Given the description of an element on the screen output the (x, y) to click on. 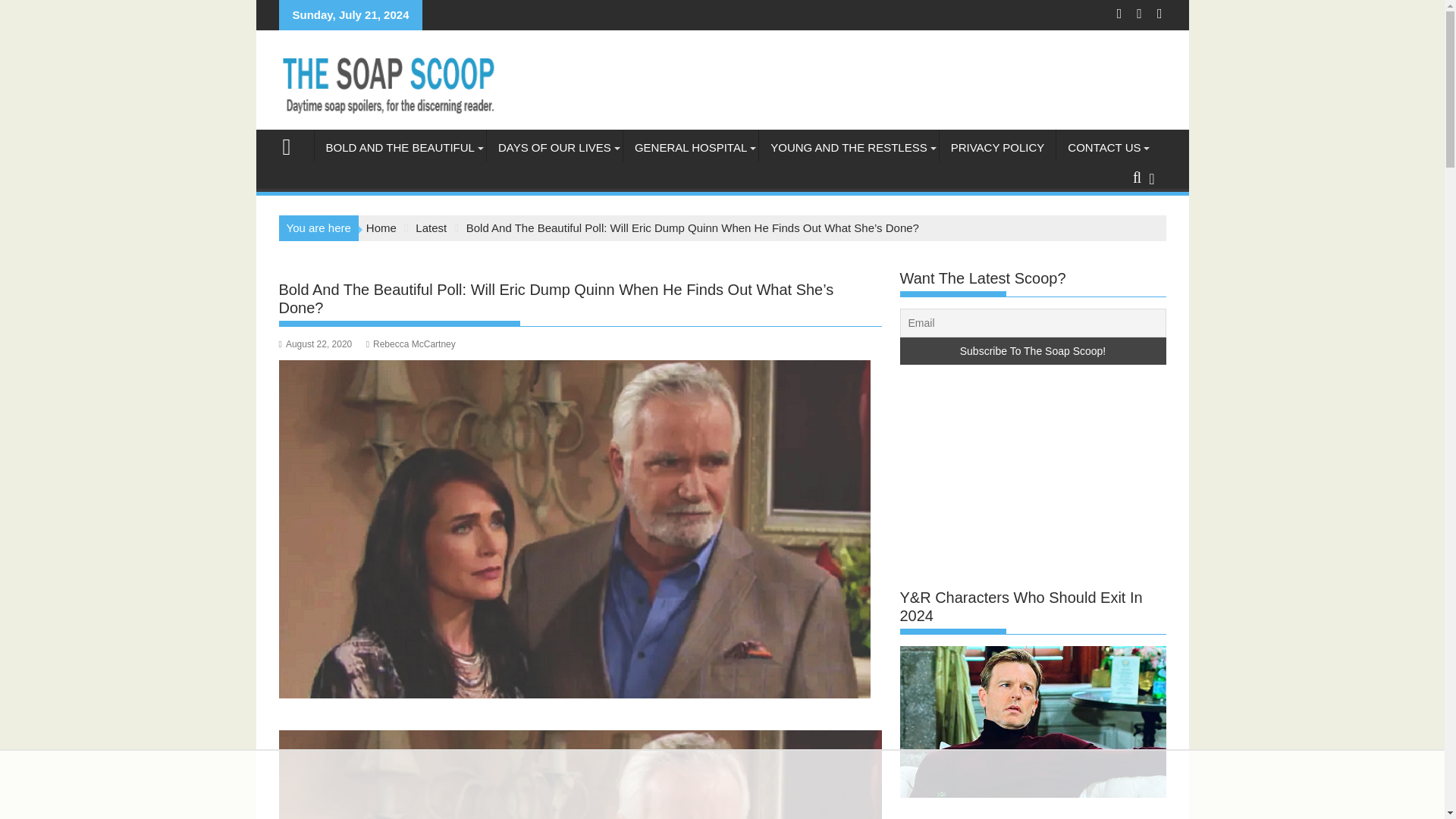
Subscribe To The Soap Scoop! (1032, 350)
PRIVACY POLICY (998, 147)
YOUNG AND THE RESTLESS (847, 147)
GENERAL HOSPITAL (690, 147)
CONTACT US (1104, 147)
DAYS OF OUR LIVES (554, 147)
BOLD AND THE BEAUTIFUL (399, 147)
The Soap Scoop (293, 145)
